Given the description of an element on the screen output the (x, y) to click on. 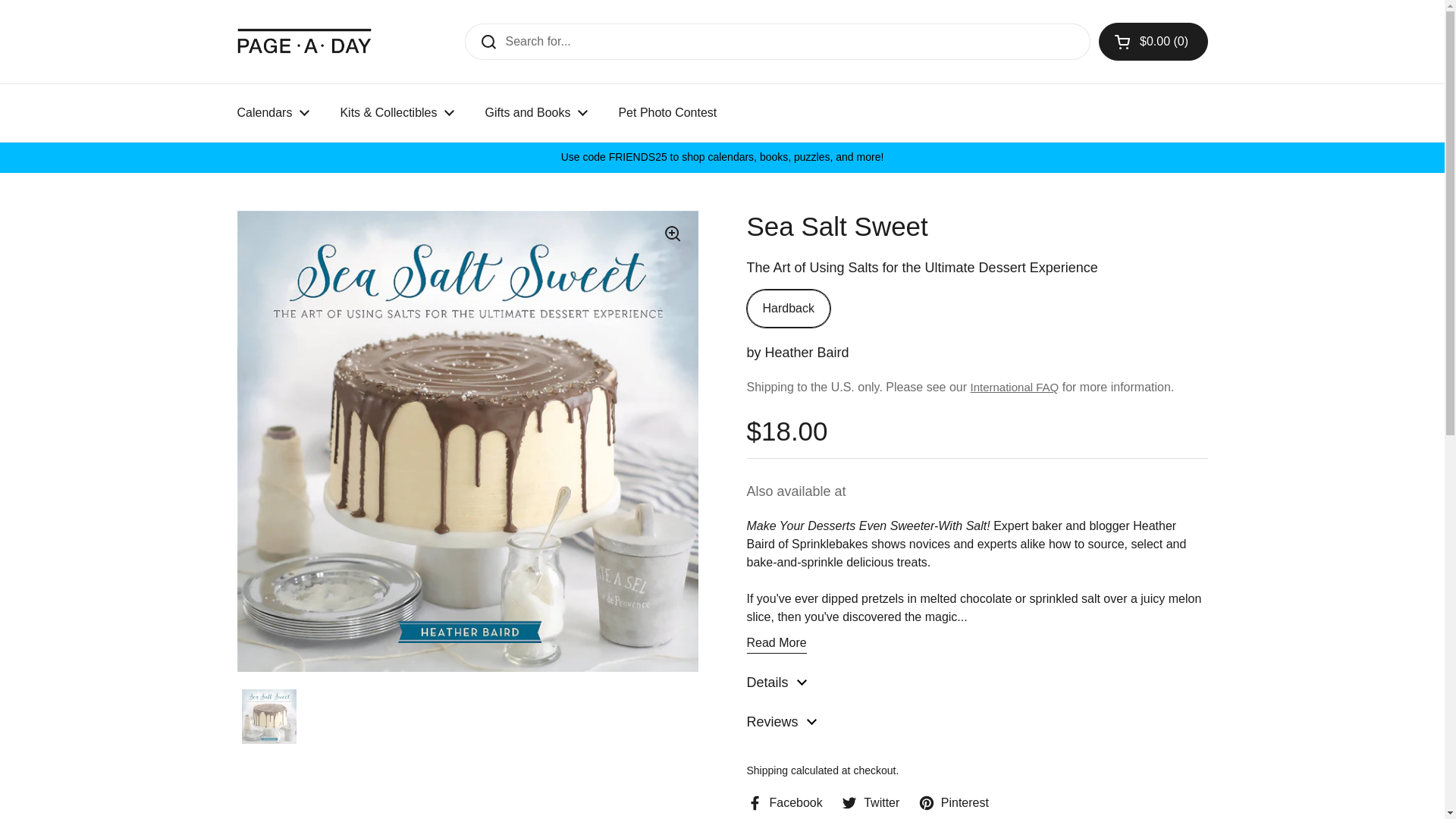
Share on facebook (783, 802)
Gifts and Books (535, 112)
Share on pinterest (953, 802)
Open cart (1153, 41)
Share on twitter (870, 802)
Calendars (272, 112)
Page-A-Day (303, 41)
